Given the description of an element on the screen output the (x, y) to click on. 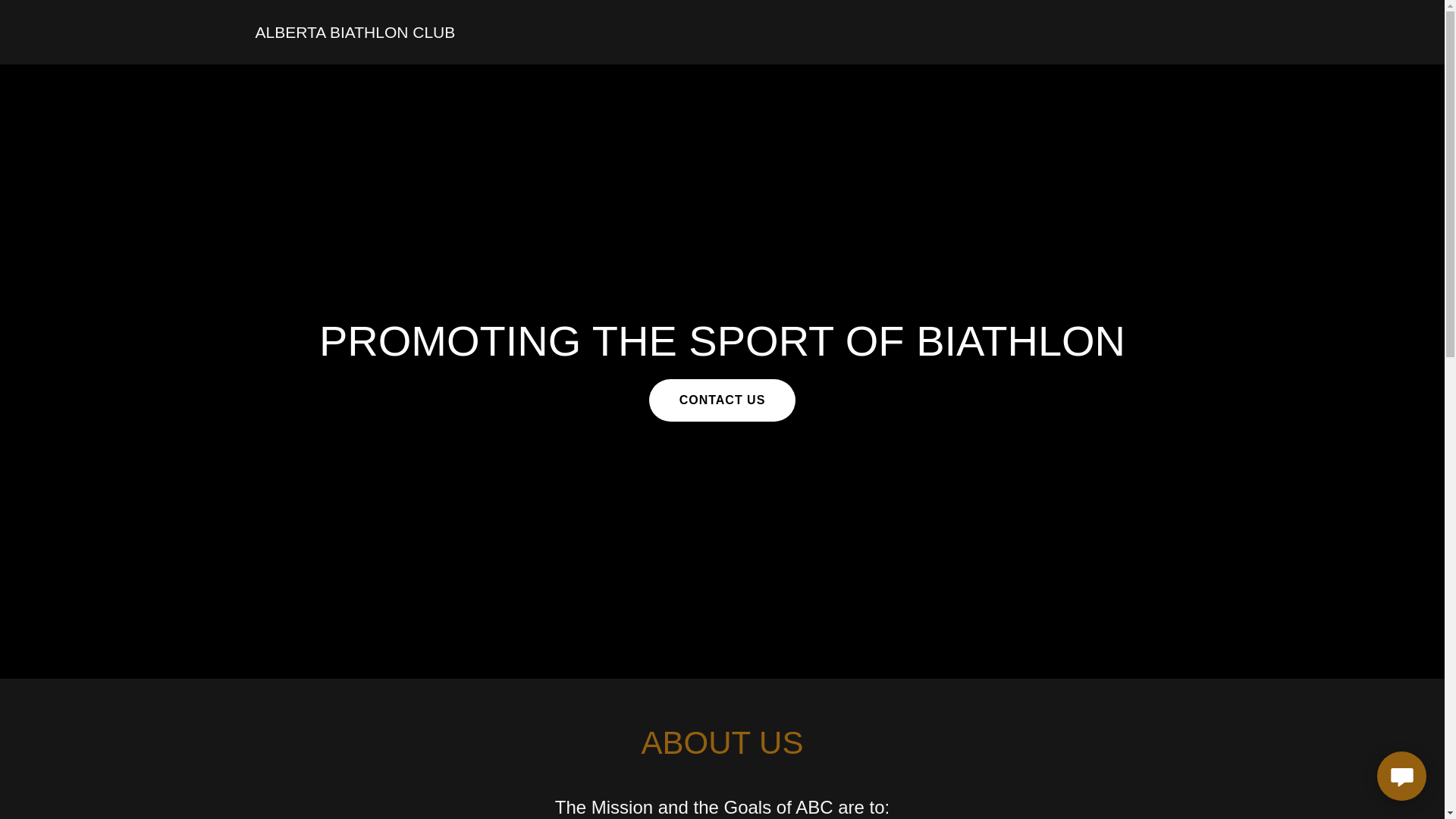
CONTACT US (722, 400)
ALBERTA BIATHLON CLUB (354, 32)
Alberta Biathlon Club (354, 32)
